Given the description of an element on the screen output the (x, y) to click on. 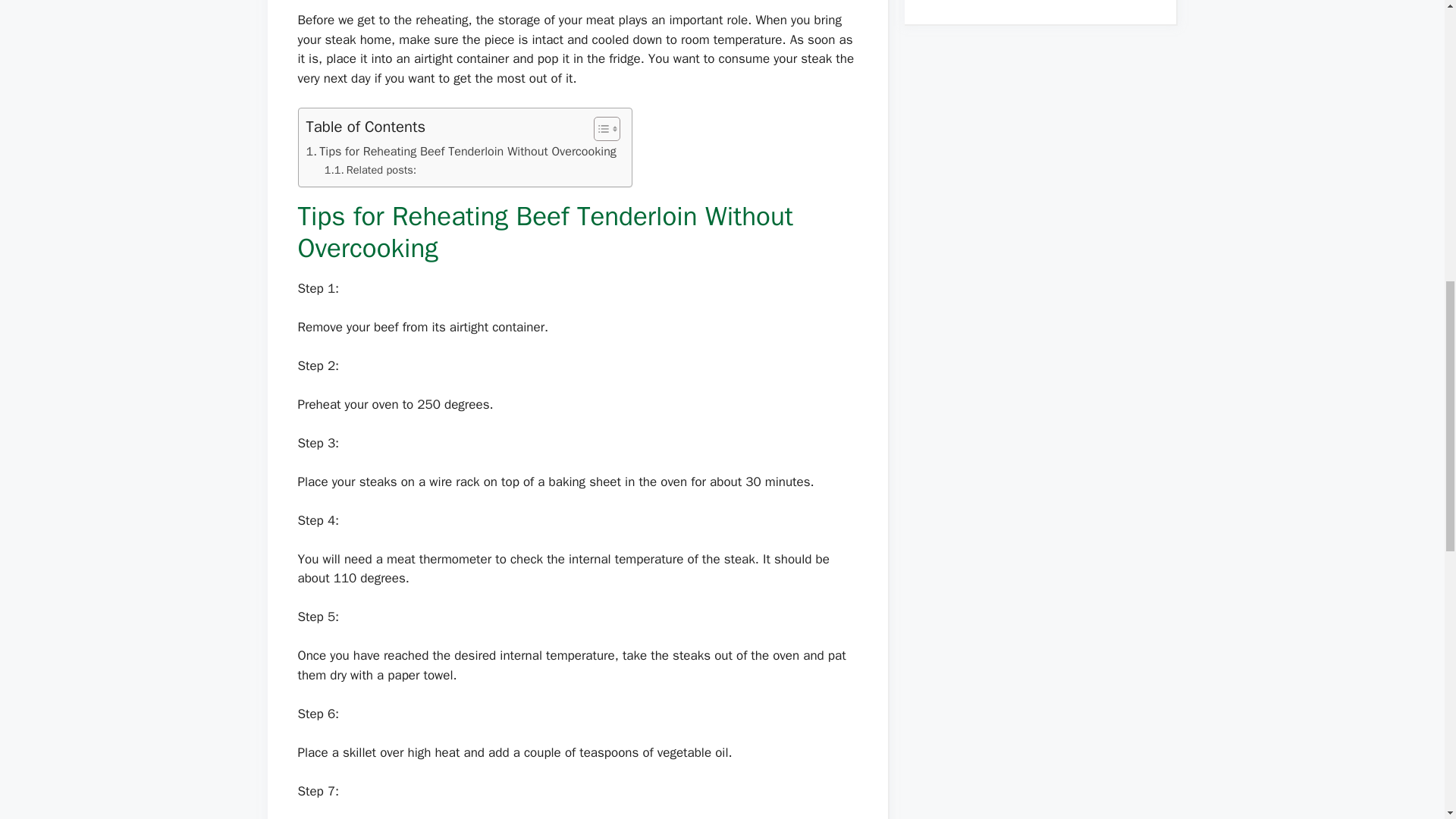
Tips for Reheating Beef Tenderloin Without Overcooking (460, 151)
Related posts: (370, 170)
Tips for Reheating Beef Tenderloin Without Overcooking (460, 151)
Related posts: (370, 170)
